Given the description of an element on the screen output the (x, y) to click on. 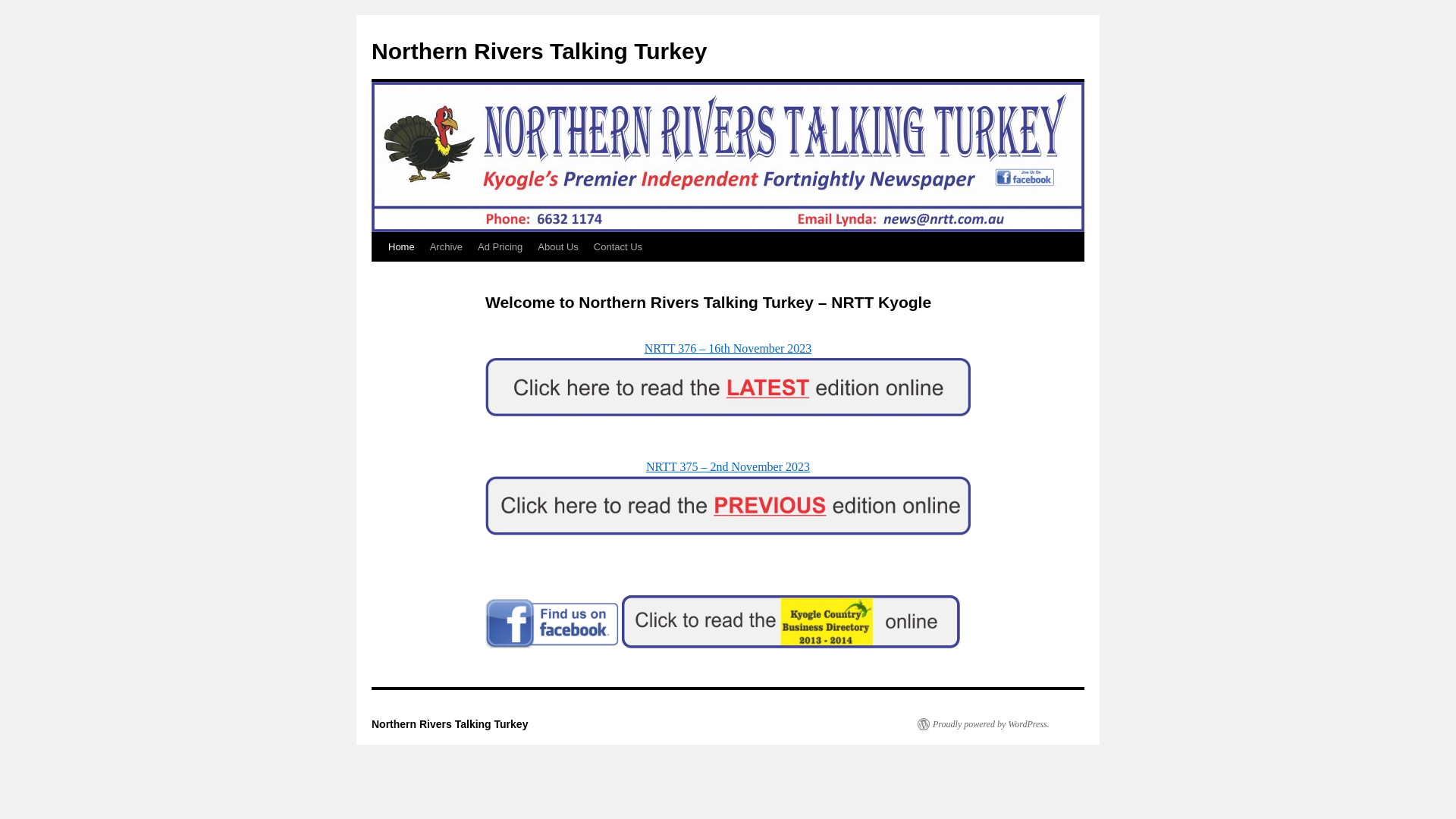
Ad Pricing Element type: text (500, 246)
Kyogle Business Directory Element type: hover (790, 621)
previous Element type: hover (727, 505)
Archive Element type: text (446, 246)
Skip to content Element type: text (378, 275)
NRTT Facebook page Element type: hover (551, 623)
About Us Element type: text (557, 246)
Northern Rivers Talking Turkey Element type: text (538, 50)
Home Element type: text (401, 246)
Northern Rivers Talking Turkey Element type: text (449, 724)
Proudly powered by WordPress. Element type: text (983, 724)
Contact Us Element type: text (617, 246)
latest Element type: hover (727, 386)
